Given the description of an element on the screen output the (x, y) to click on. 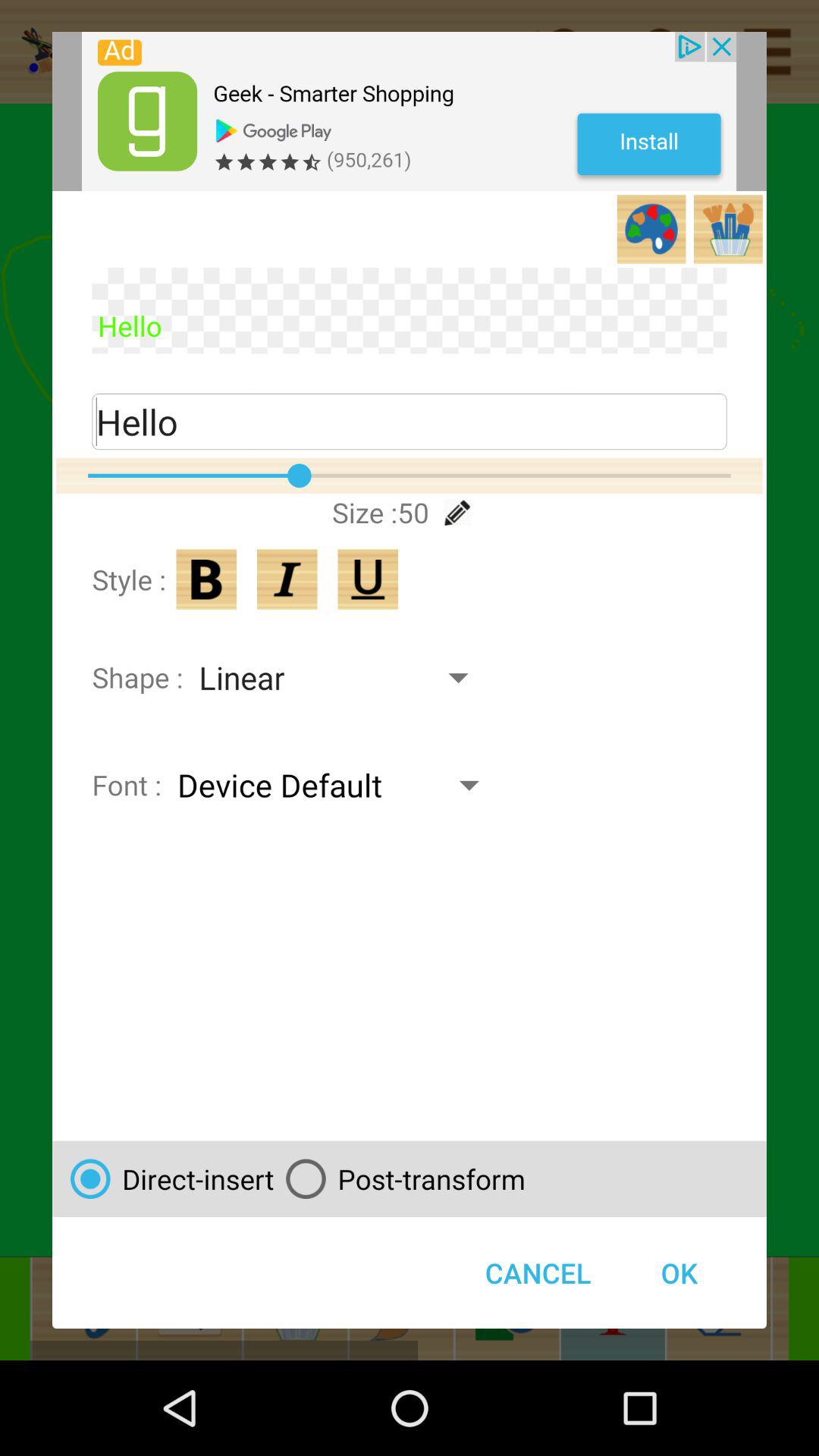
style letter type (206, 579)
